Given the description of an element on the screen output the (x, y) to click on. 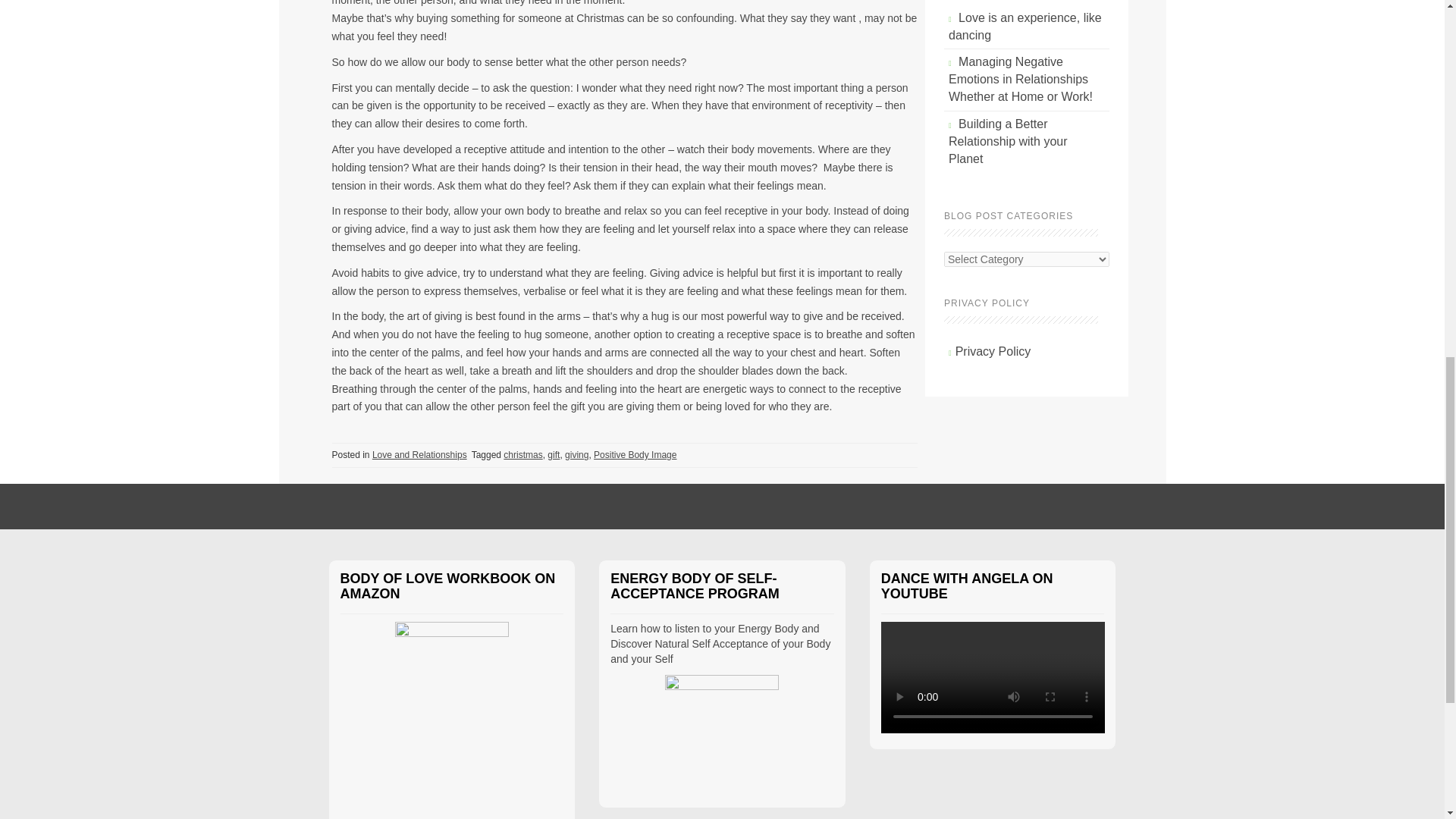
Building a Better Relationship with your Planet (1008, 141)
christmas (522, 454)
Love is an experience, like dancing (1025, 26)
Love and Relationships (419, 454)
Positive Body Image (635, 454)
gift (553, 454)
giving (576, 454)
